Given the description of an element on the screen output the (x, y) to click on. 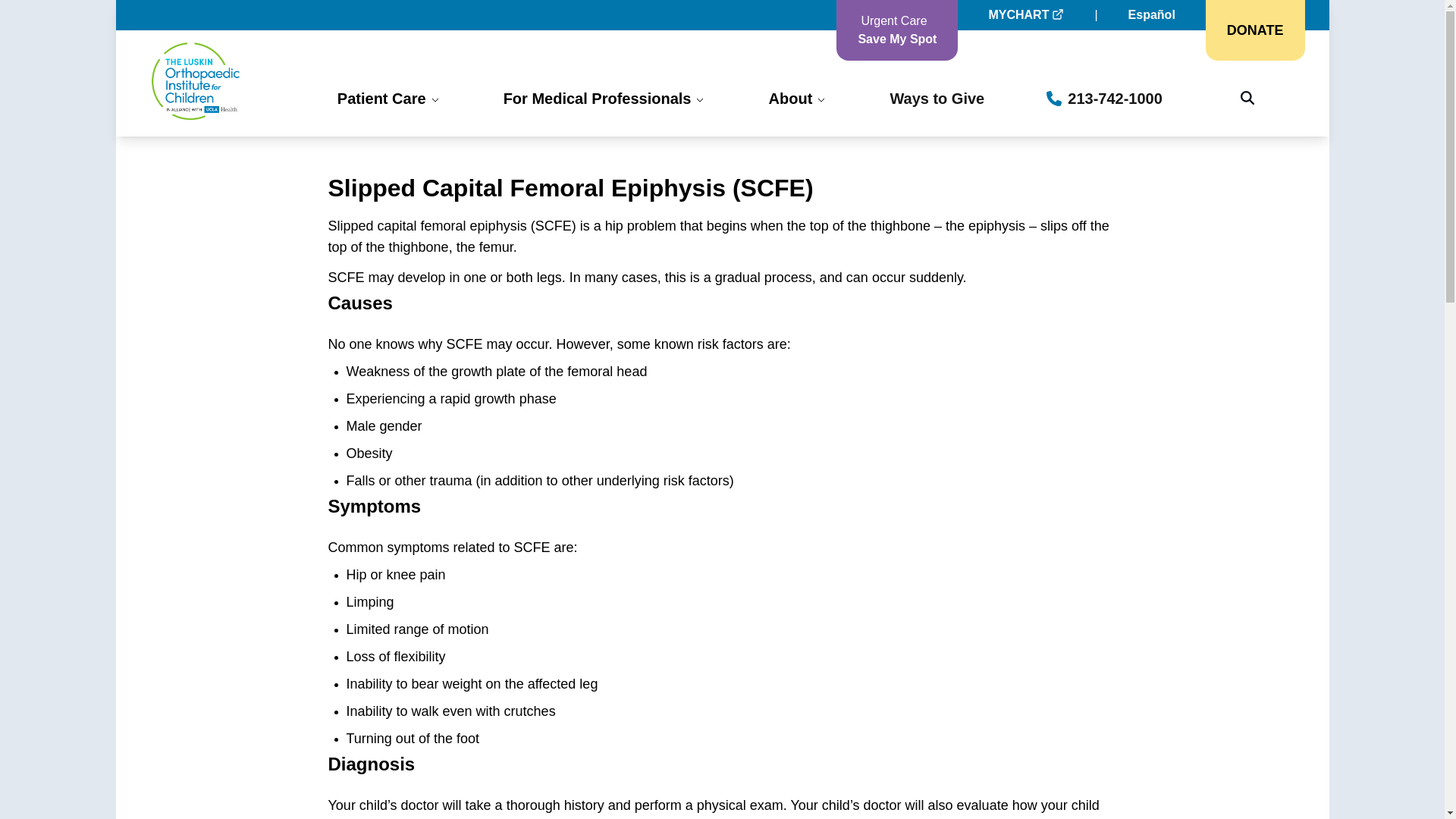
Ways to Give (936, 97)
Patient Care (389, 97)
For Medical Professionals (604, 97)
DONATE (896, 30)
About (1254, 30)
MYCHART (798, 97)
